Given the description of an element on the screen output the (x, y) to click on. 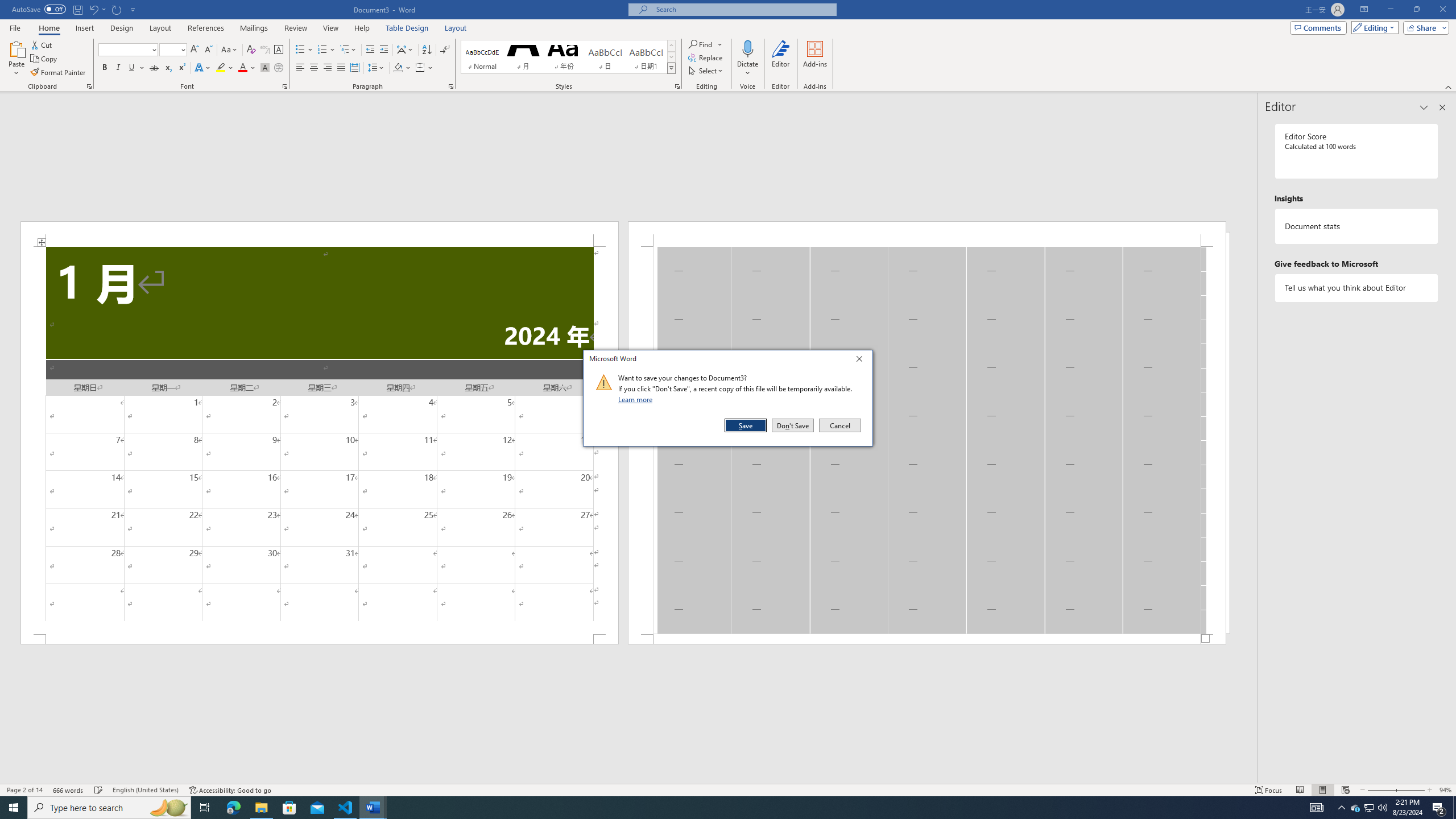
Close (862, 360)
Select (705, 69)
Repeat Doc Close (117, 9)
Accessibility Checker Accessibility: Good to go (230, 790)
Document statistics (1356, 226)
Dictate (747, 48)
Styles... (676, 85)
Shading RGB(0, 0, 0) (397, 67)
Design (122, 28)
Class: MsoCommandBar (1368, 807)
User Promoted Notification Area (728, 789)
Format Painter (1368, 807)
